Given the description of an element on the screen output the (x, y) to click on. 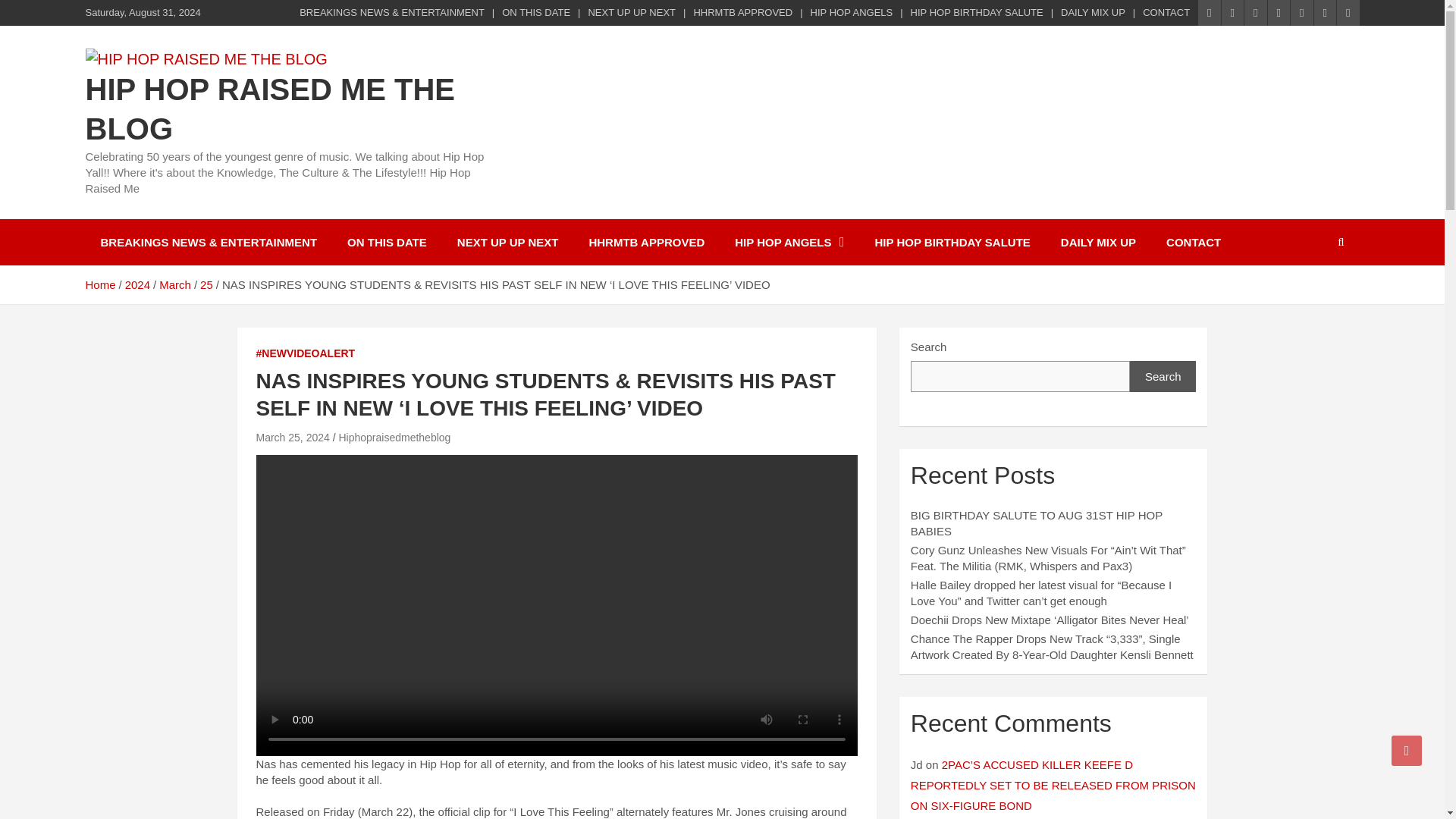
NEXT UP UP NEXT (631, 12)
CONTACT (1193, 242)
Home (99, 284)
March (174, 284)
DAILY MIX UP (1093, 12)
HIP HOP ANGELS (789, 242)
ON THIS DATE (536, 12)
March 25, 2024 (293, 437)
HIP HOP ANGELS (851, 12)
HIP HOP RAISED ME THE BLOG (269, 108)
